Given the description of an element on the screen output the (x, y) to click on. 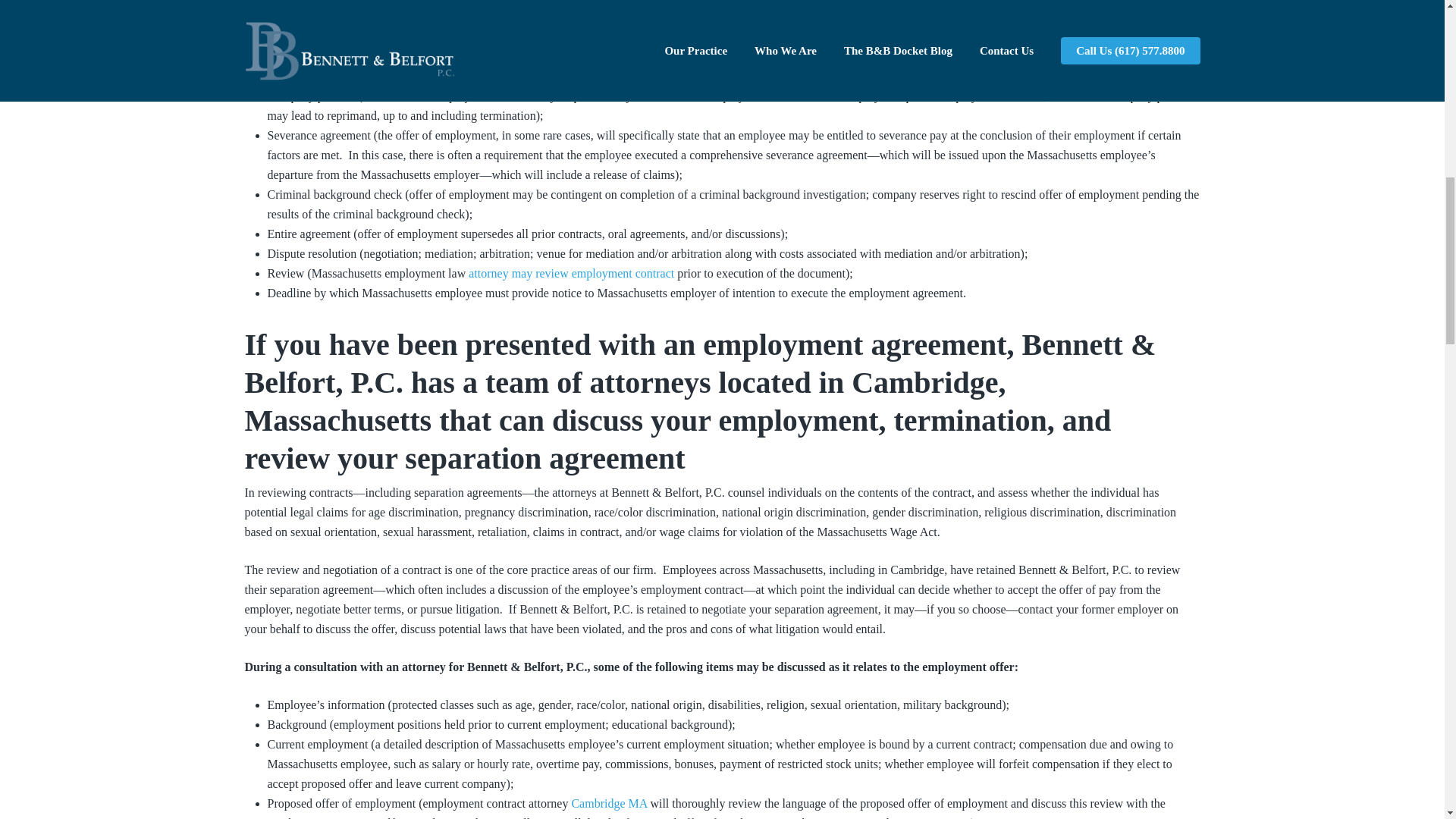
attorney may review employment contract (571, 273)
Cambridge MA (608, 802)
